Given the description of an element on the screen output the (x, y) to click on. 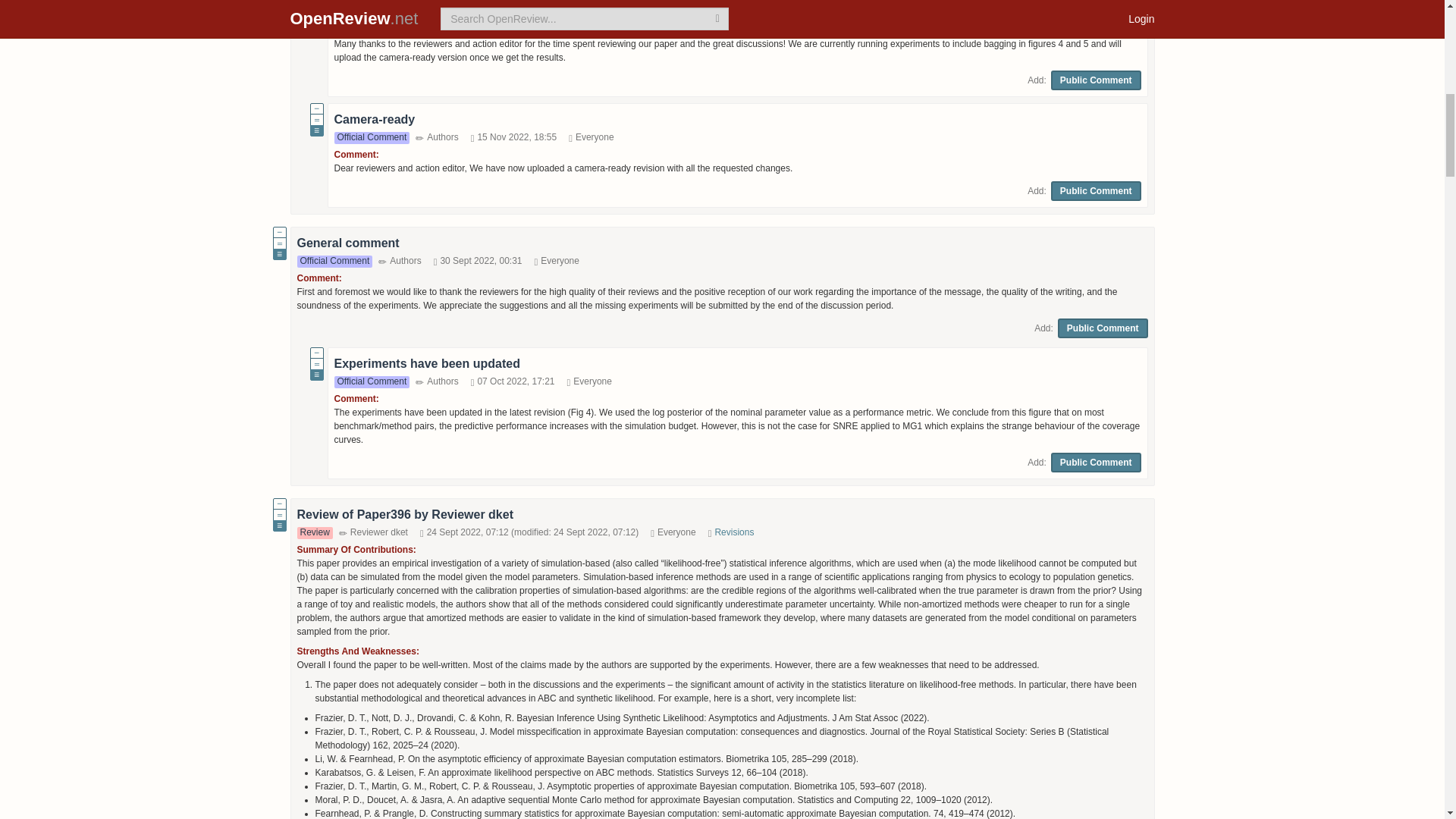
Public Comment (1096, 80)
